Given the description of an element on the screen output the (x, y) to click on. 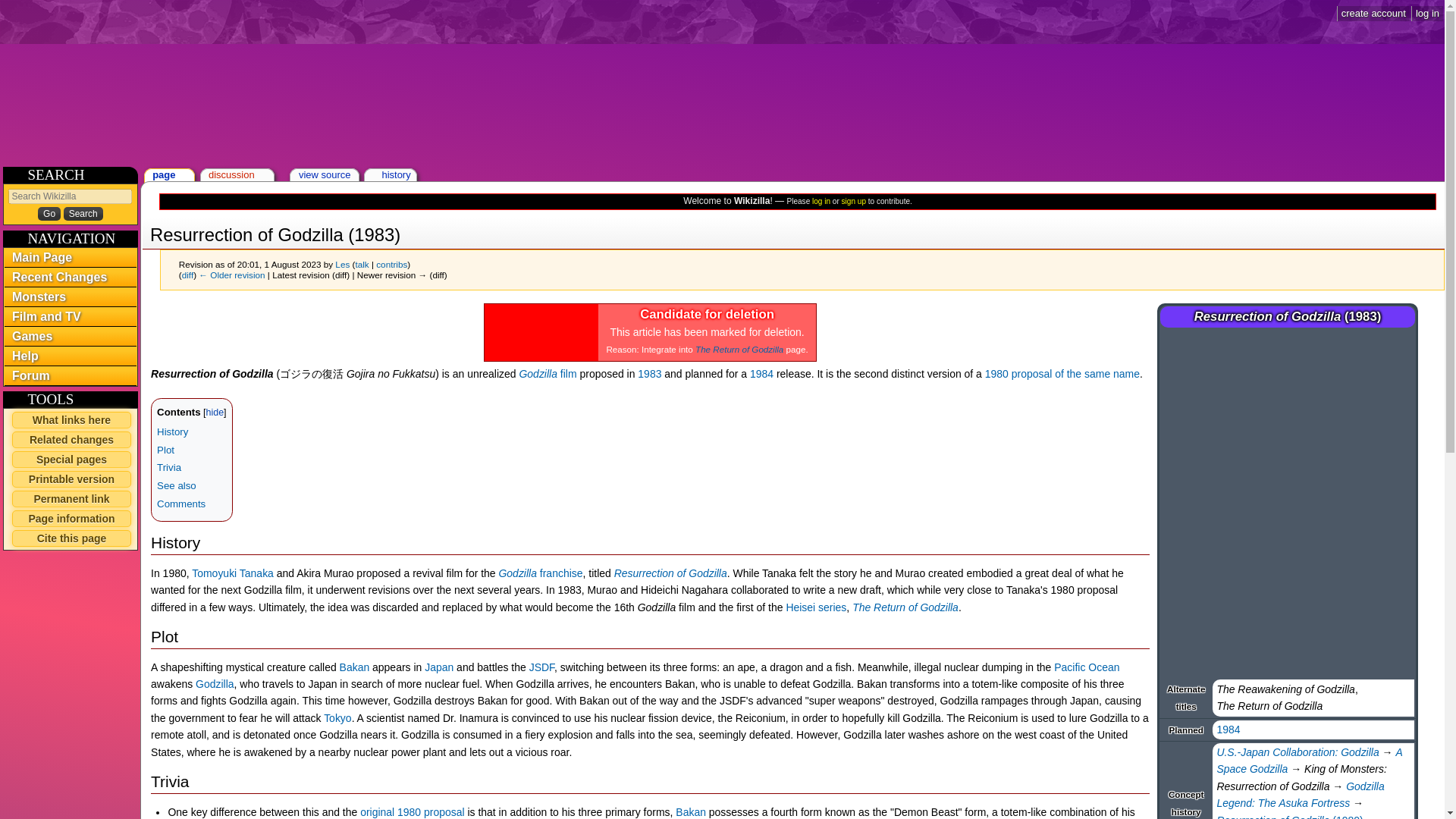
Search (83, 213)
U.S.-Japan Collaboration: Godzilla (1296, 752)
The Return of Godzilla (904, 607)
Godzilla (213, 684)
1983 (649, 373)
Bakan (354, 666)
film (568, 373)
contribs (391, 264)
See also (176, 485)
